Given the description of an element on the screen output the (x, y) to click on. 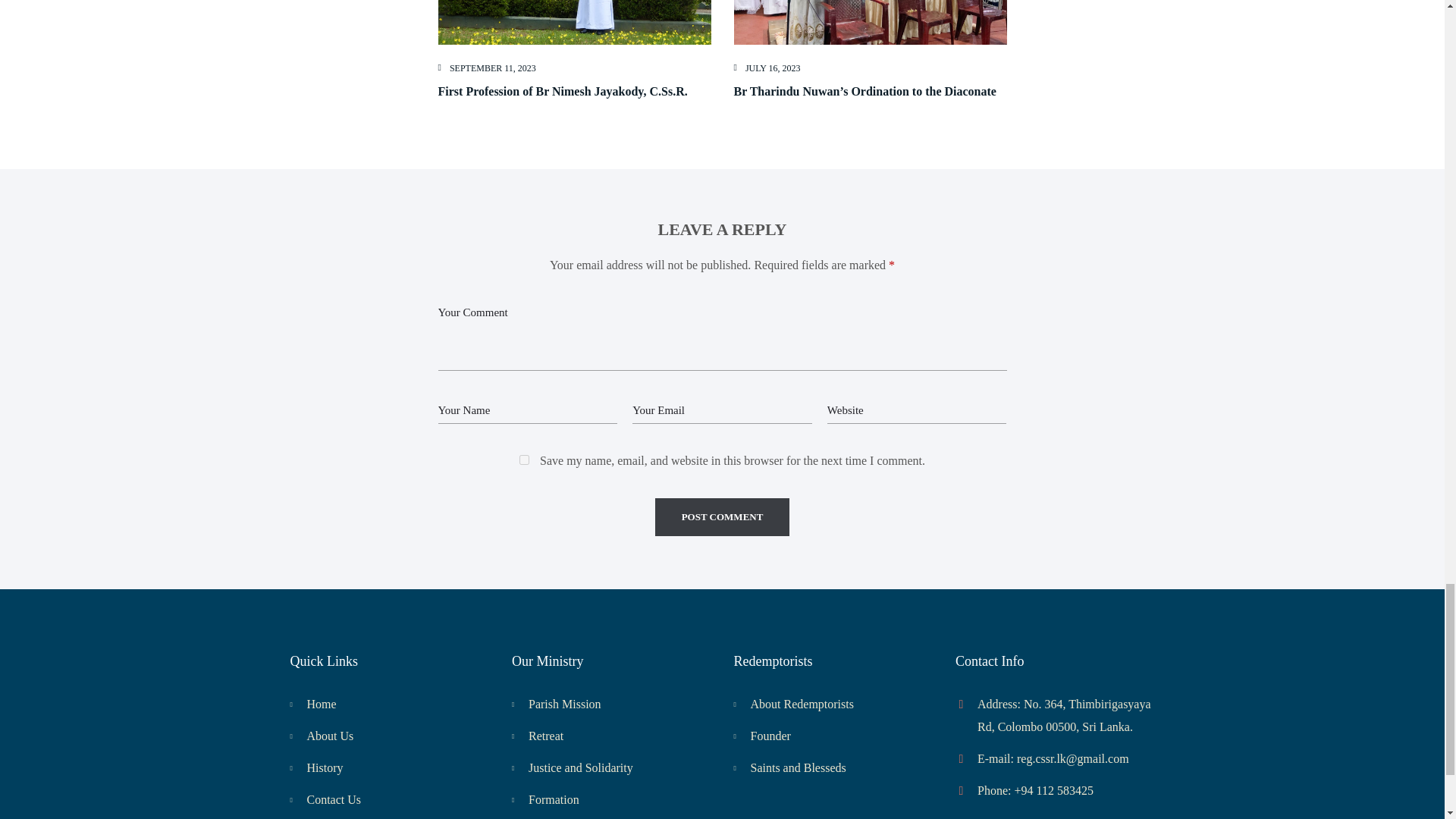
yes (524, 460)
First Profession of Br Nimesh Jayakody, C.Ss.R. (562, 91)
